Given the description of an element on the screen output the (x, y) to click on. 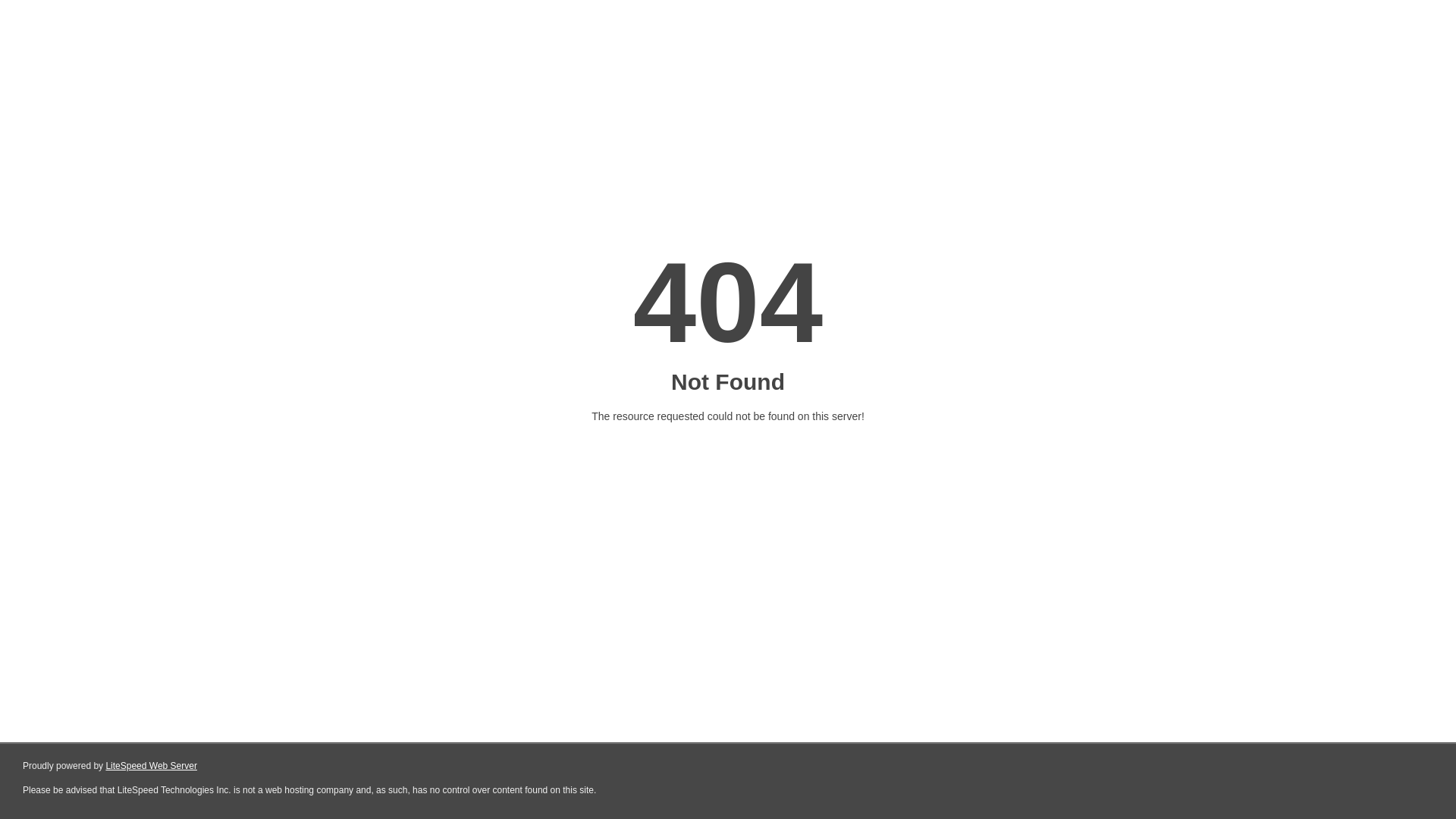
LiteSpeed Web Server Element type: text (151, 765)
